Given the description of an element on the screen output the (x, y) to click on. 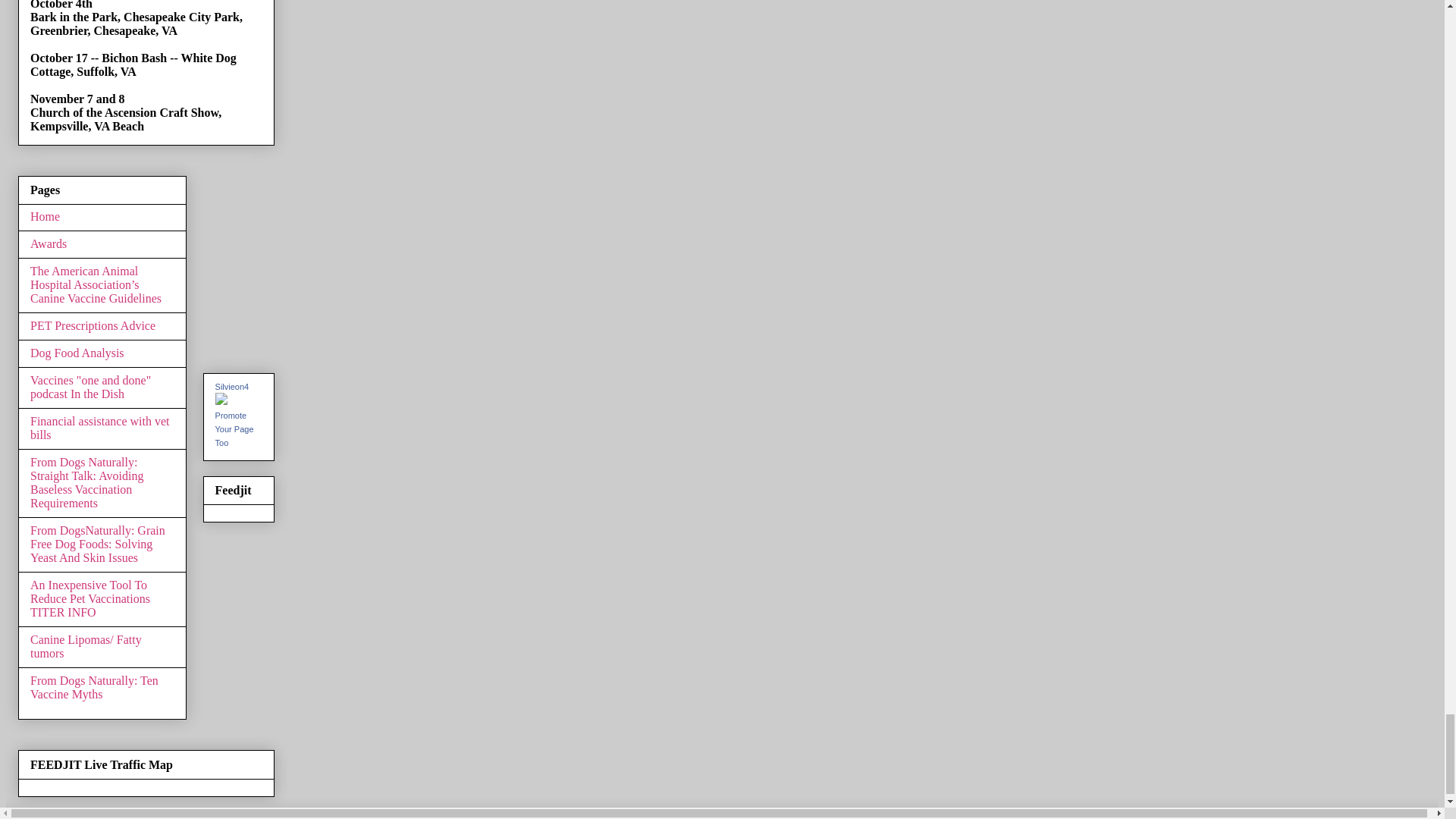
Silvieon4 (231, 386)
